Given the description of an element on the screen output the (x, y) to click on. 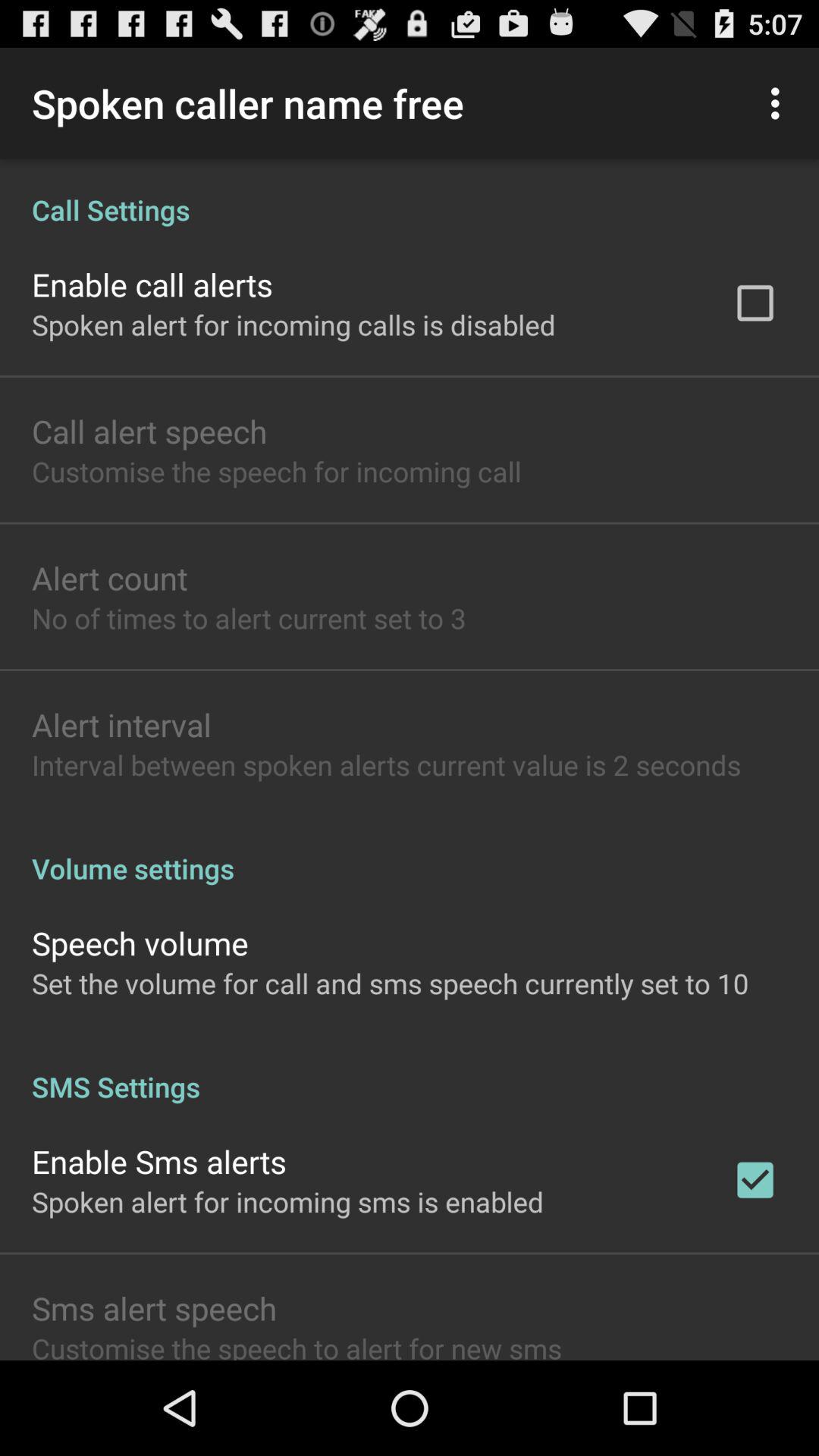
turn off interval between spoken (386, 764)
